Given the description of an element on the screen output the (x, y) to click on. 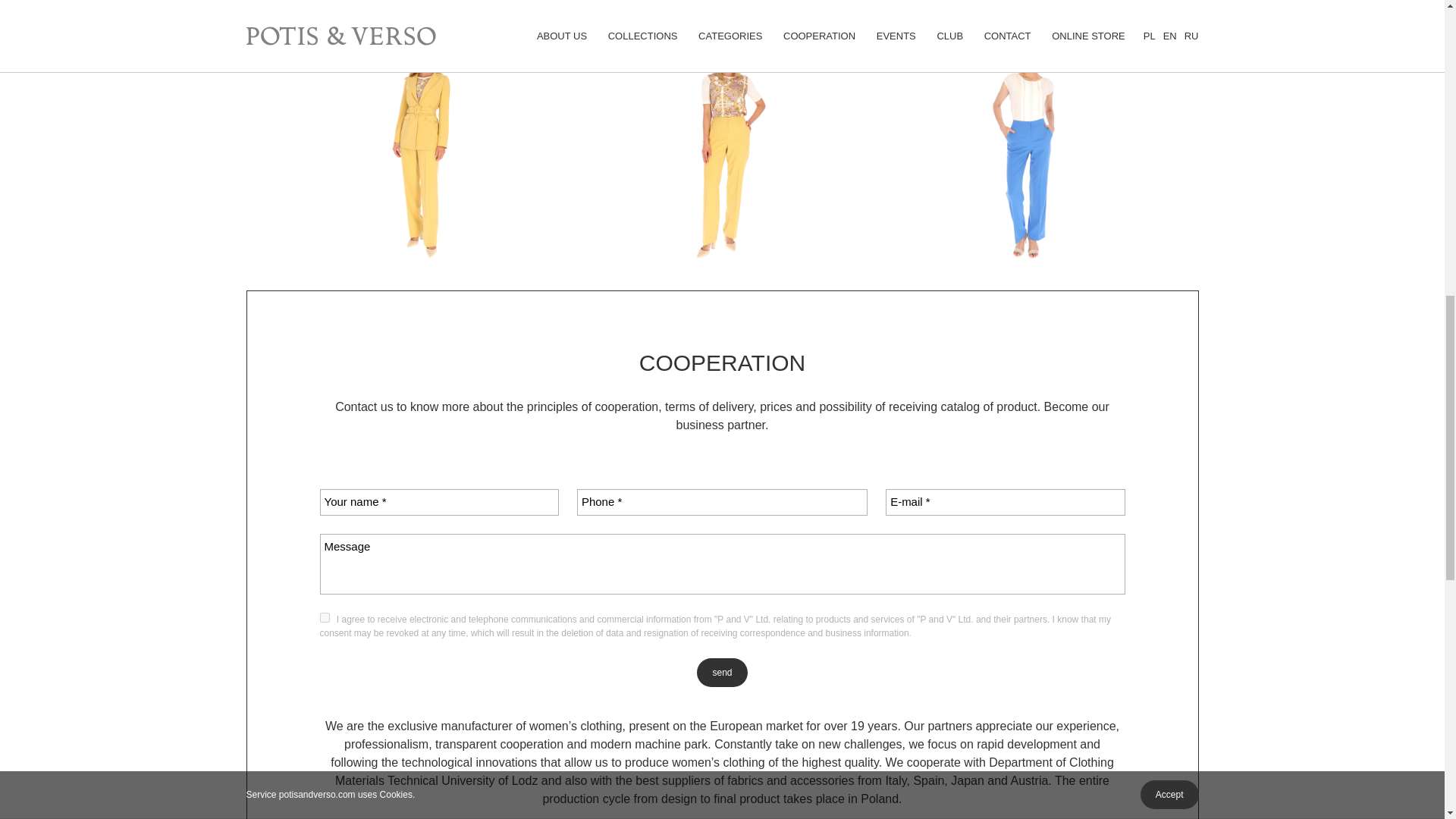
on (325, 617)
send (721, 672)
